Given the description of an element on the screen output the (x, y) to click on. 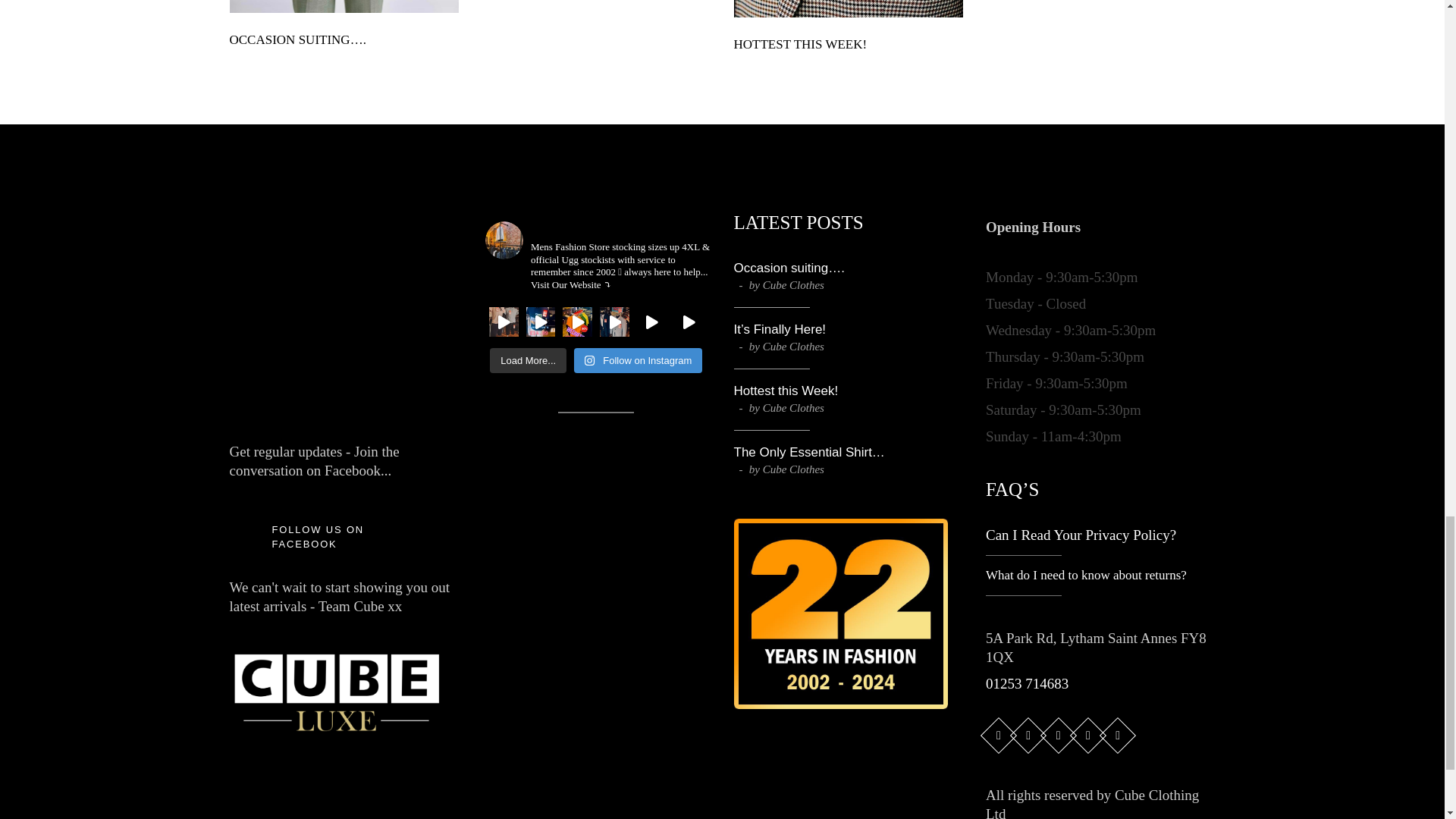
Hottest this Week! (848, 8)
Hottest this Week! (800, 43)
Hottest this Week! (785, 391)
